Given the description of an element on the screen output the (x, y) to click on. 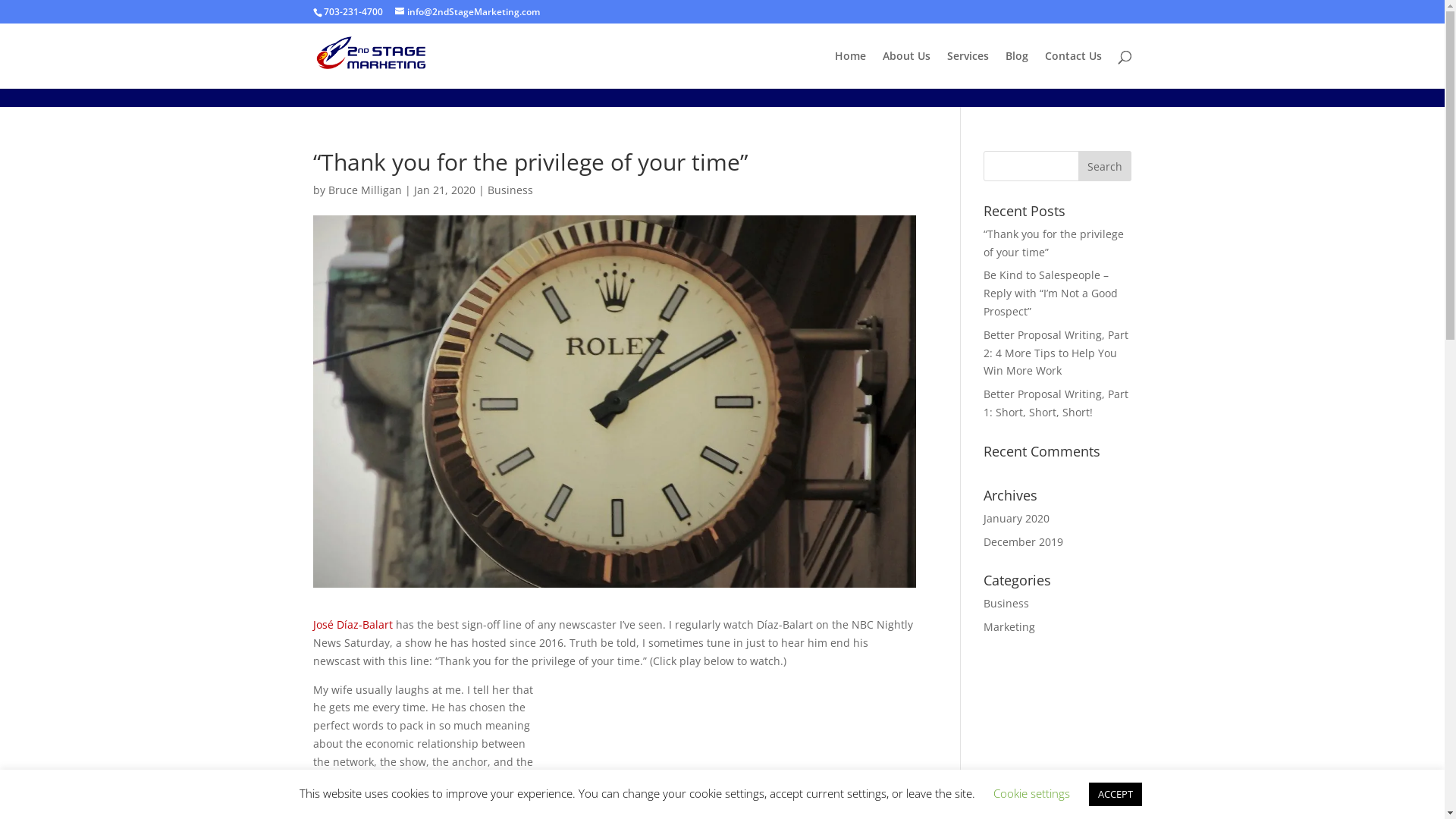
Contact Us Element type: text (1072, 69)
January 2020 Element type: text (1016, 518)
Search Element type: text (1104, 165)
Marketing Element type: text (1009, 626)
Business Element type: text (1006, 603)
Services Element type: text (967, 69)
Better Proposal Writing, Part 1: Short, Short, Short! Element type: text (1055, 402)
About Us Element type: text (906, 69)
Business Element type: text (509, 189)
Cookie settings Element type: text (1031, 792)
info@2ndStageMarketing.com Element type: text (466, 11)
Home Element type: text (849, 69)
attention-driven economy Element type: text (447, 779)
ACCEPT Element type: text (1115, 794)
December 2019 Element type: text (1023, 541)
Blog Element type: text (1016, 69)
Bruce Milligan Element type: text (364, 189)
